Given the description of an element on the screen output the (x, y) to click on. 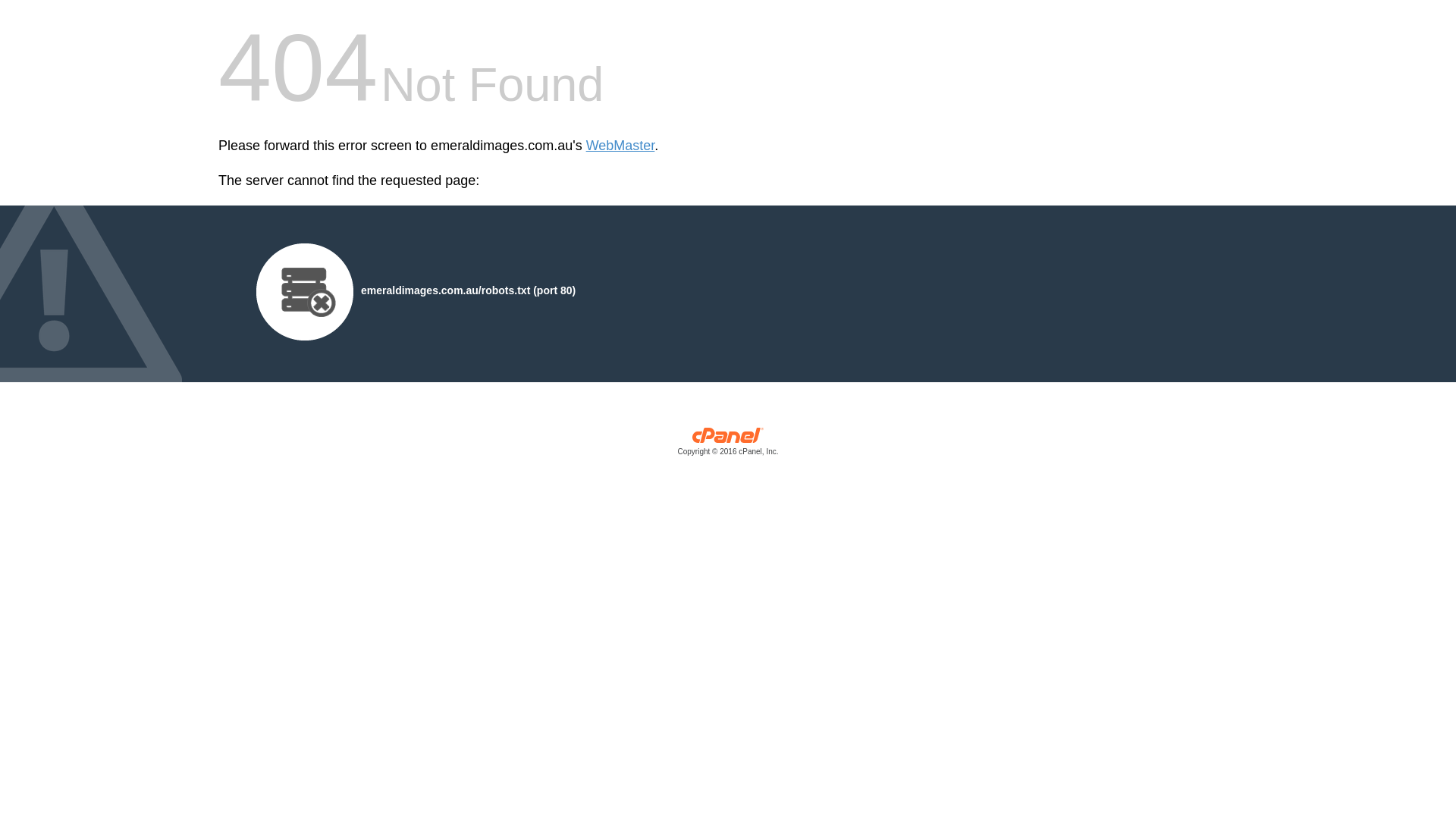
WebMaster Element type: text (620, 145)
